Given the description of an element on the screen output the (x, y) to click on. 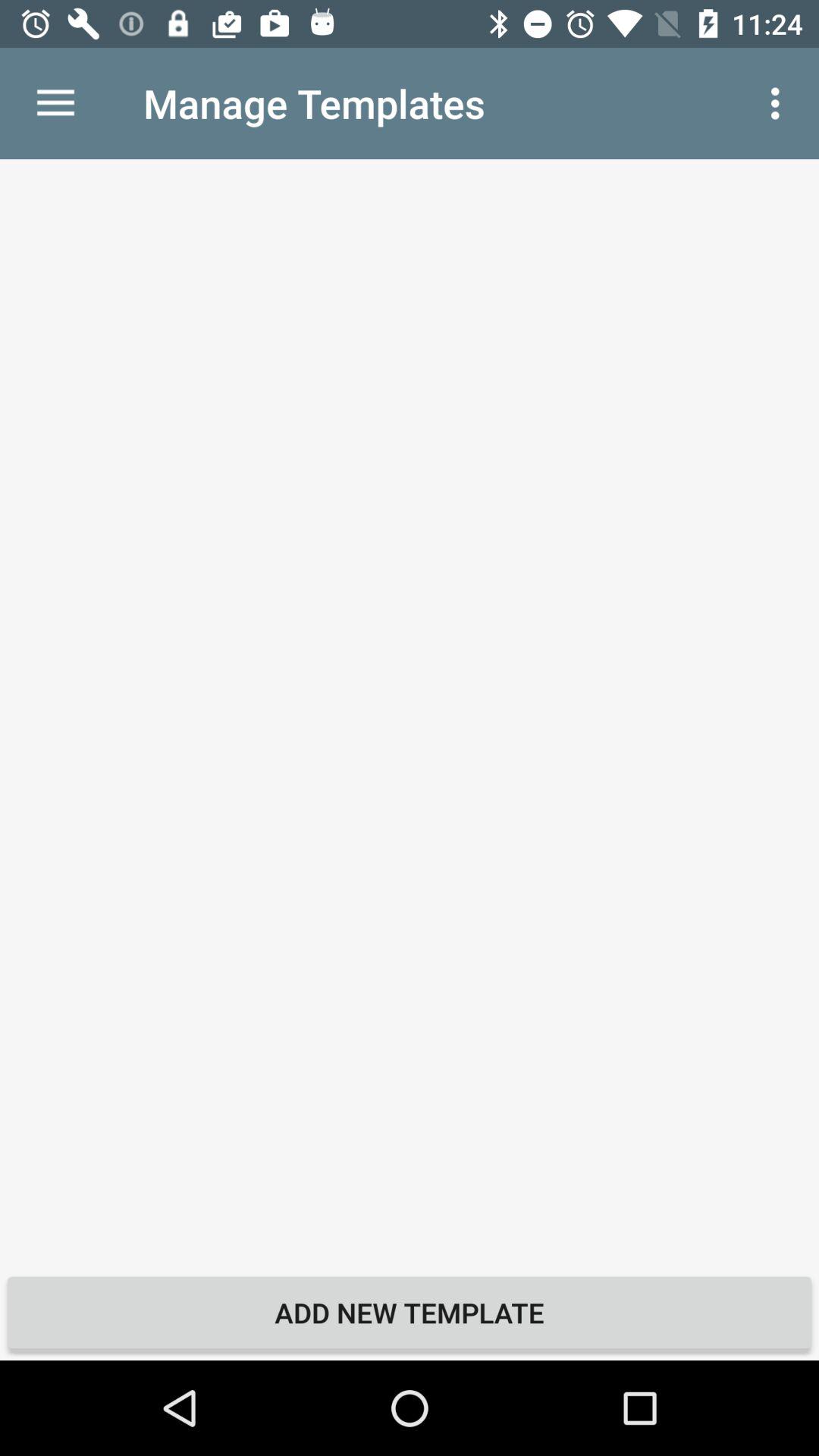
press the item to the left of the manage templates item (55, 103)
